Given the description of an element on the screen output the (x, y) to click on. 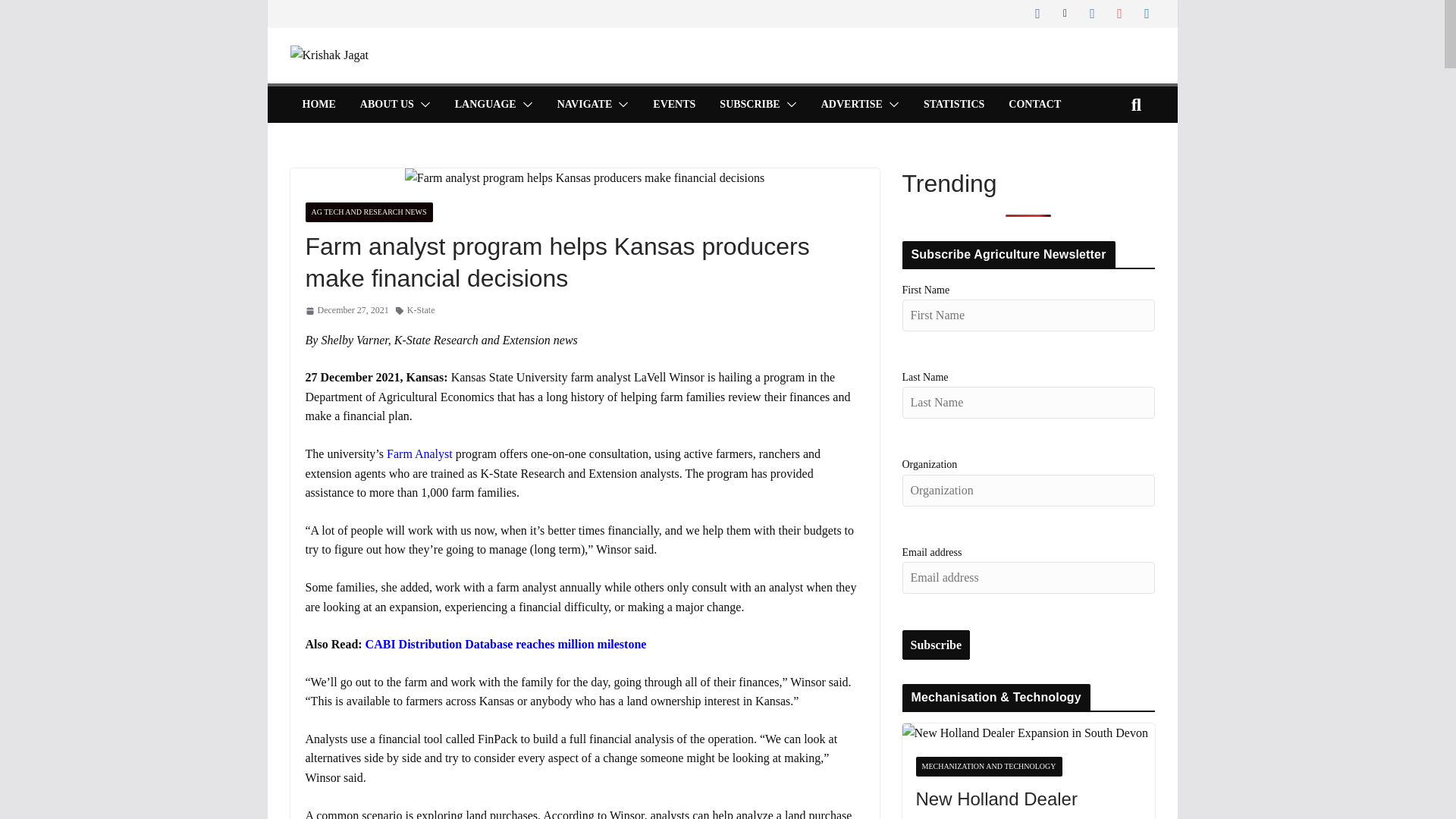
SUBSCRIBE (748, 104)
HOME (317, 104)
10:29 pm (346, 310)
ABOUT US (386, 104)
ADVERTISE (851, 104)
LANGUAGE (485, 104)
NAVIGATE (584, 104)
EVENTS (673, 104)
Subscribe (936, 644)
